Given the description of an element on the screen output the (x, y) to click on. 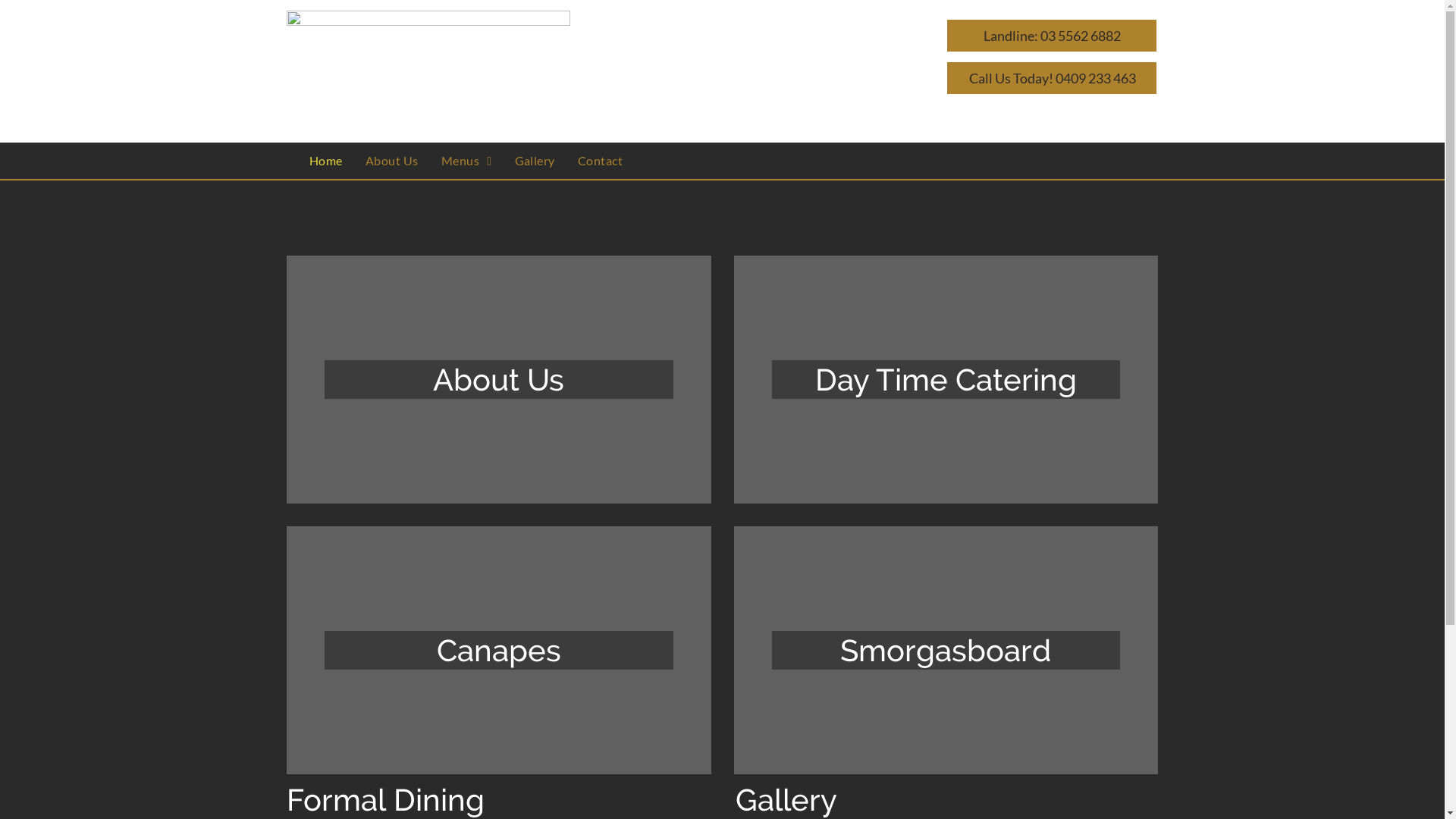
Smorgasboard Element type: text (945, 650)
Menus Element type: text (466, 160)
Canapes Element type: text (498, 650)
Gallery Element type: text (786, 799)
Gallery Element type: text (534, 160)
Home Element type: text (326, 160)
Formal Dining Element type: text (385, 799)
About Us Element type: text (498, 379)
Landline: 03 5562 6882 Element type: text (1051, 35)
About Us Element type: text (391, 160)
Call Us Today! 0409 233 463 Element type: text (1051, 77)
Day Time Catering Element type: text (945, 379)
Contact Element type: text (599, 160)
